Given the description of an element on the screen output the (x, y) to click on. 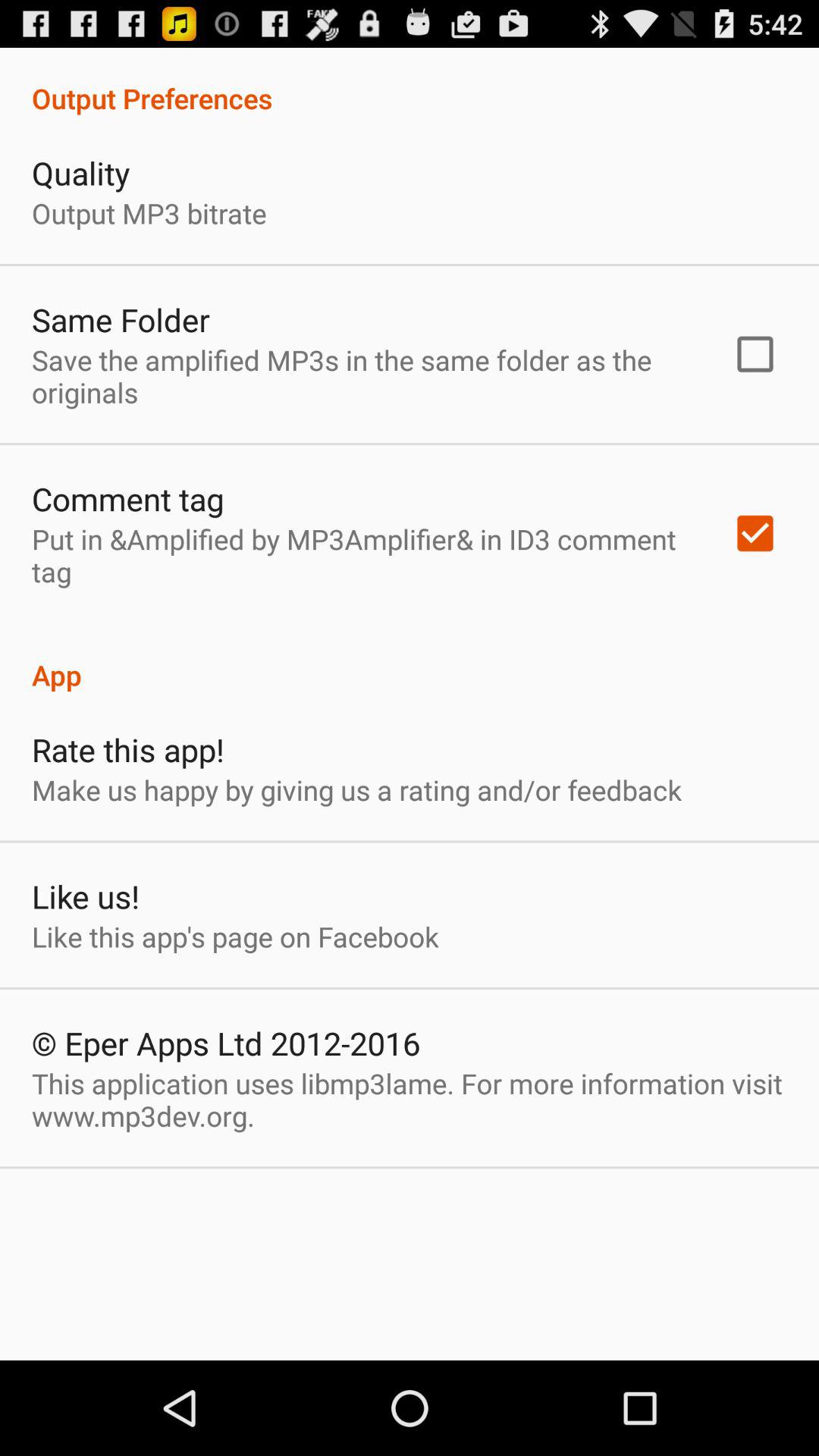
open item above the quality icon (409, 82)
